Given the description of an element on the screen output the (x, y) to click on. 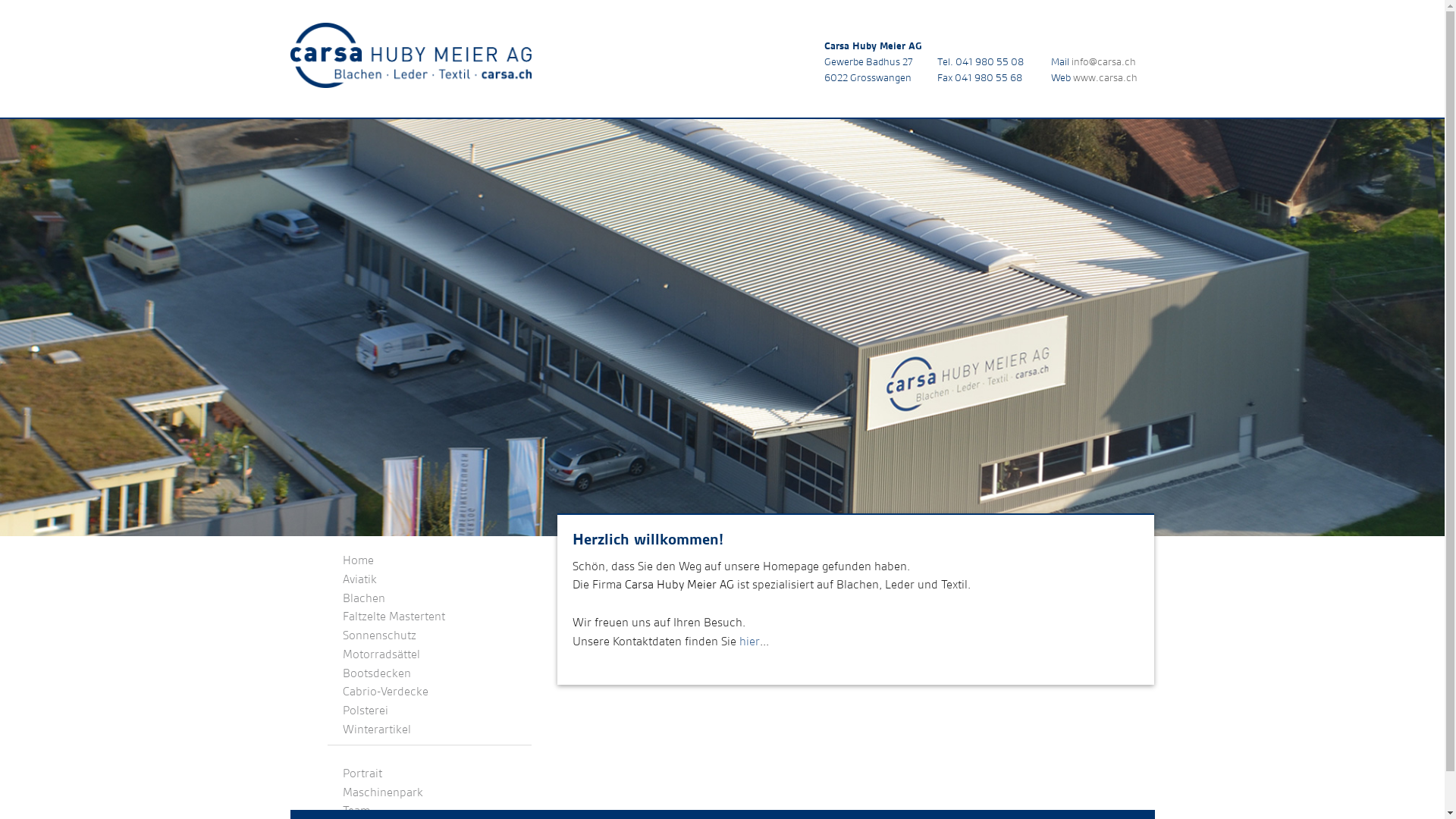
Home Element type: text (358, 559)
Aviatik Element type: text (359, 578)
Faltzelte Mastertent Element type: text (393, 616)
Portrait Element type: text (362, 773)
Winterartikel Element type: text (376, 729)
Sonnenschutz Element type: text (379, 635)
Polsterei Element type: text (365, 710)
www.carsa.ch Element type: text (1105, 77)
hier Element type: text (749, 641)
Maschinenpark Element type: text (382, 792)
Team Element type: text (356, 810)
info@carsa.ch Element type: text (1103, 61)
Cabrio-Verdecke Element type: text (385, 691)
Bootsdecken Element type: text (376, 672)
Blachen Element type: text (363, 597)
